Given the description of an element on the screen output the (x, y) to click on. 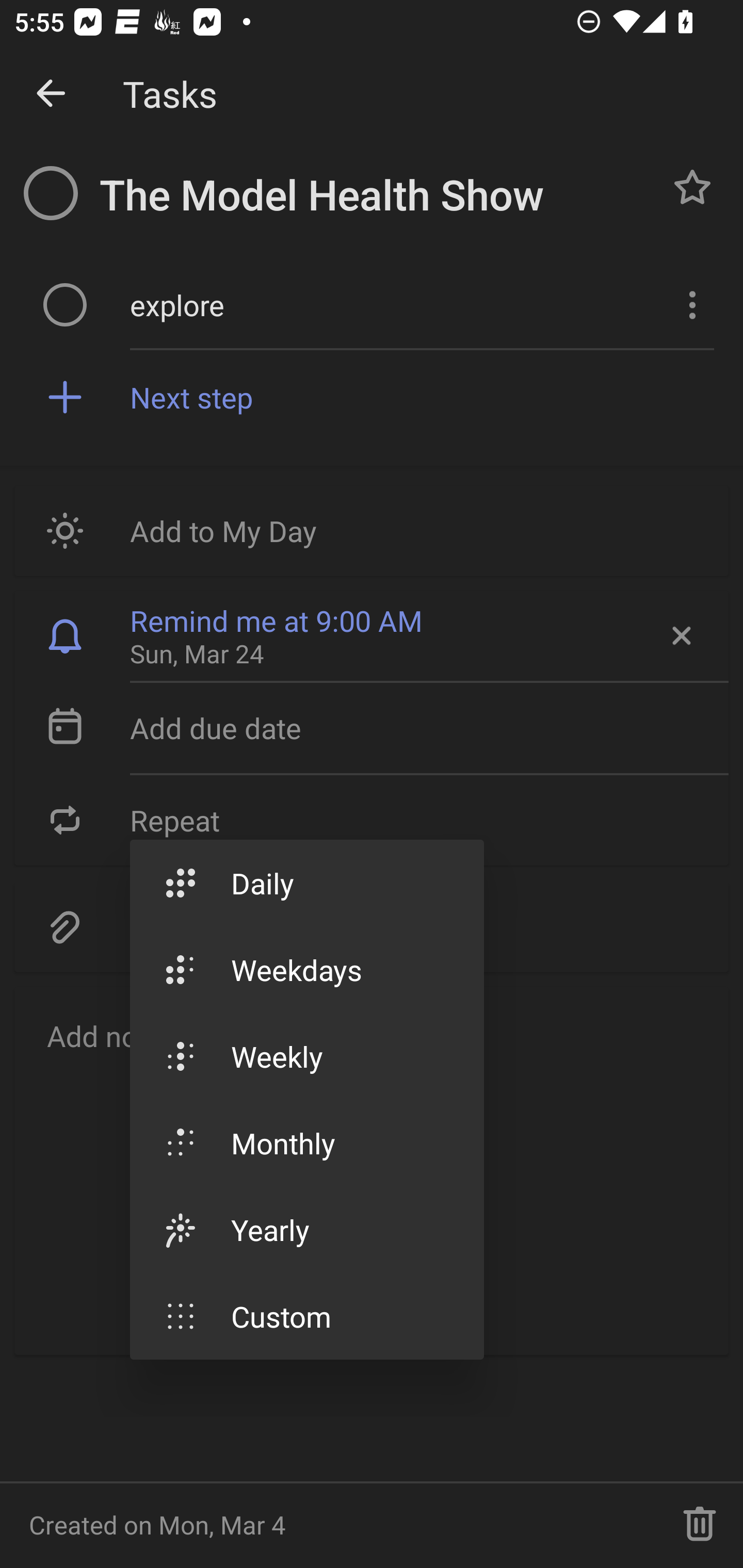
Daily (306, 883)
Weekdays (306, 969)
Weekly (306, 1055)
Monthly (306, 1142)
Yearly (306, 1229)
Custom (306, 1316)
